Given the description of an element on the screen output the (x, y) to click on. 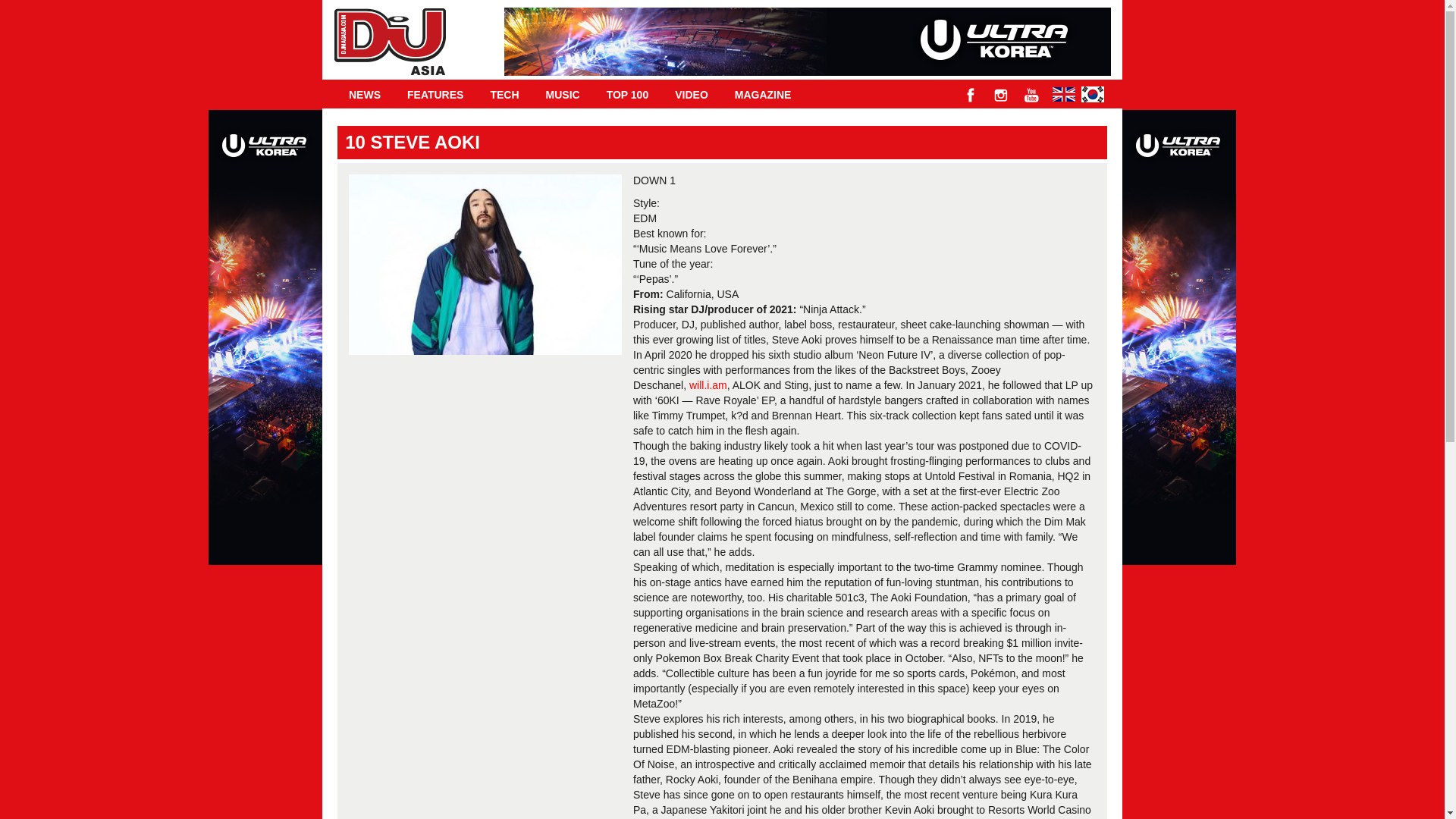
facebook (970, 94)
Korean (1092, 93)
MUSIC (562, 93)
will.i.am (707, 385)
MAGAZINE (763, 93)
TOP 100 (628, 93)
youtube (1031, 94)
instagram (1000, 94)
NEWS (364, 93)
English (1063, 93)
TECH (504, 93)
FEATURES (435, 93)
VIDEO (691, 93)
